Given the description of an element on the screen output the (x, y) to click on. 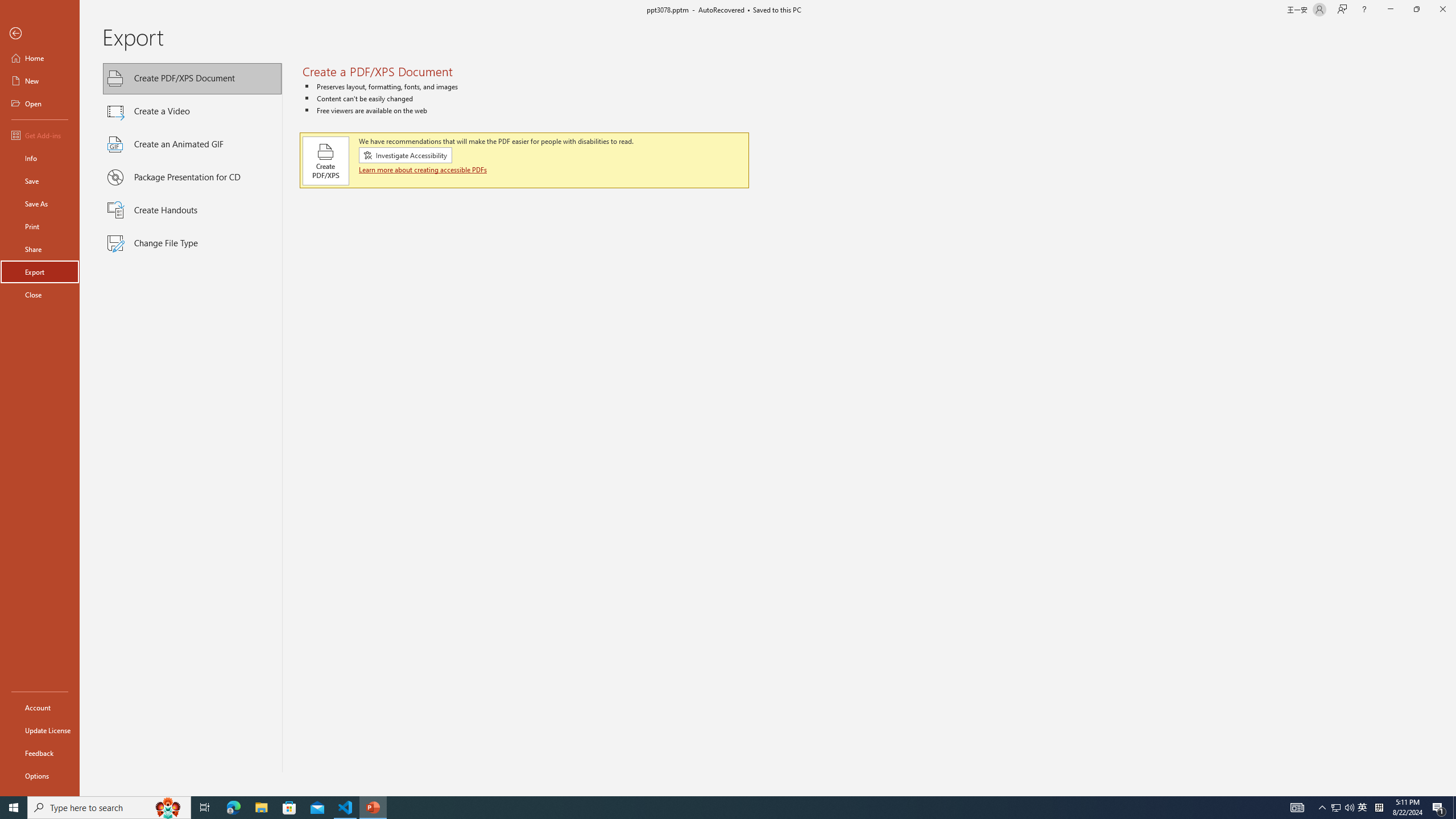
Investigate Accessibility (405, 154)
Publishing Features (192, 423)
Create PDF/XPS Document (192, 78)
